Given the description of an element on the screen output the (x, y) to click on. 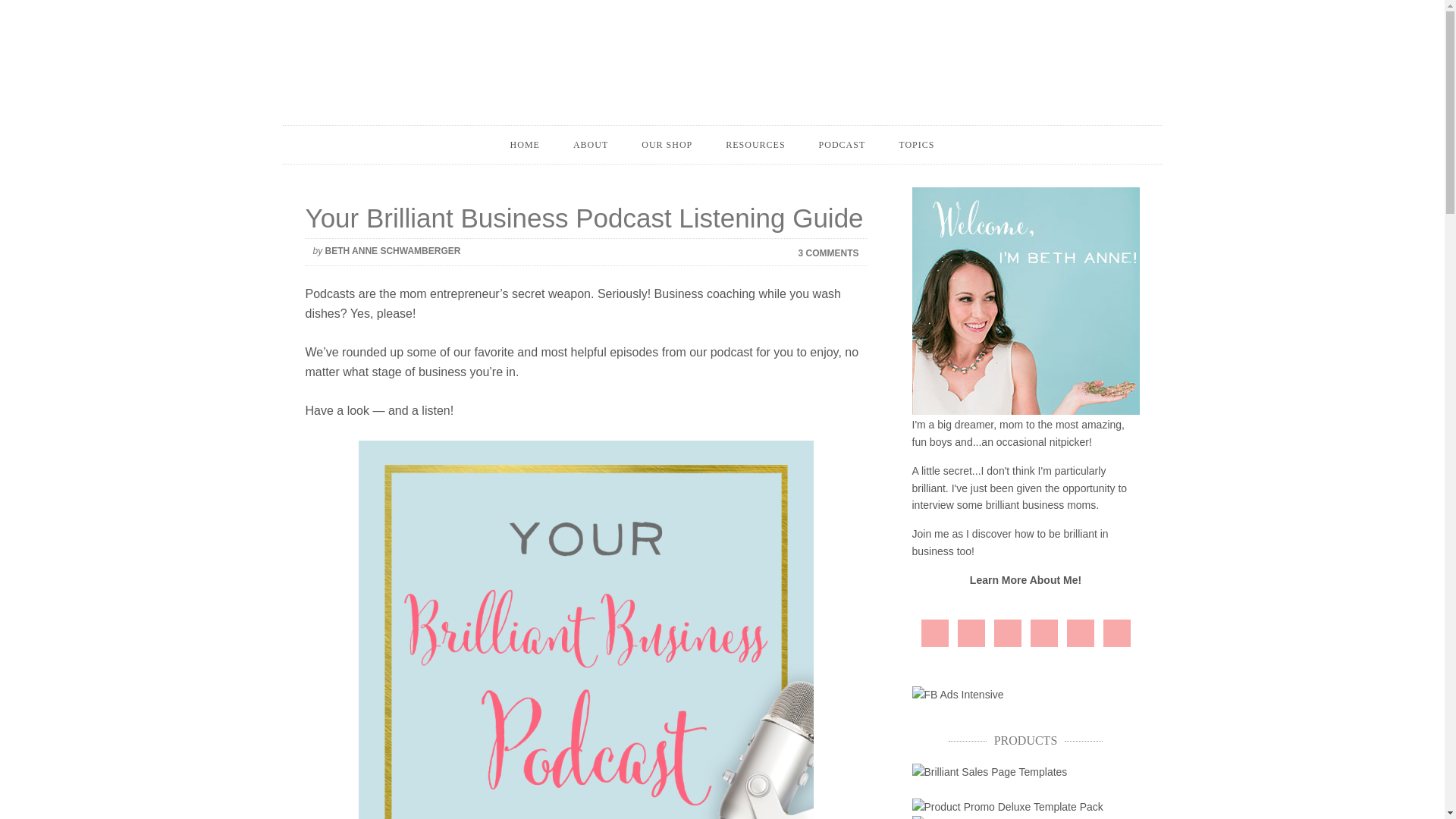
OUR SHOP (666, 144)
3 COMMENTS (819, 251)
RESOURCES (754, 144)
BETH ANNE SCHWAMBERGER (392, 250)
PODCAST (841, 144)
TOPICS (916, 144)
ABOUT (590, 144)
HOME (524, 144)
